Given the description of an element on the screen output the (x, y) to click on. 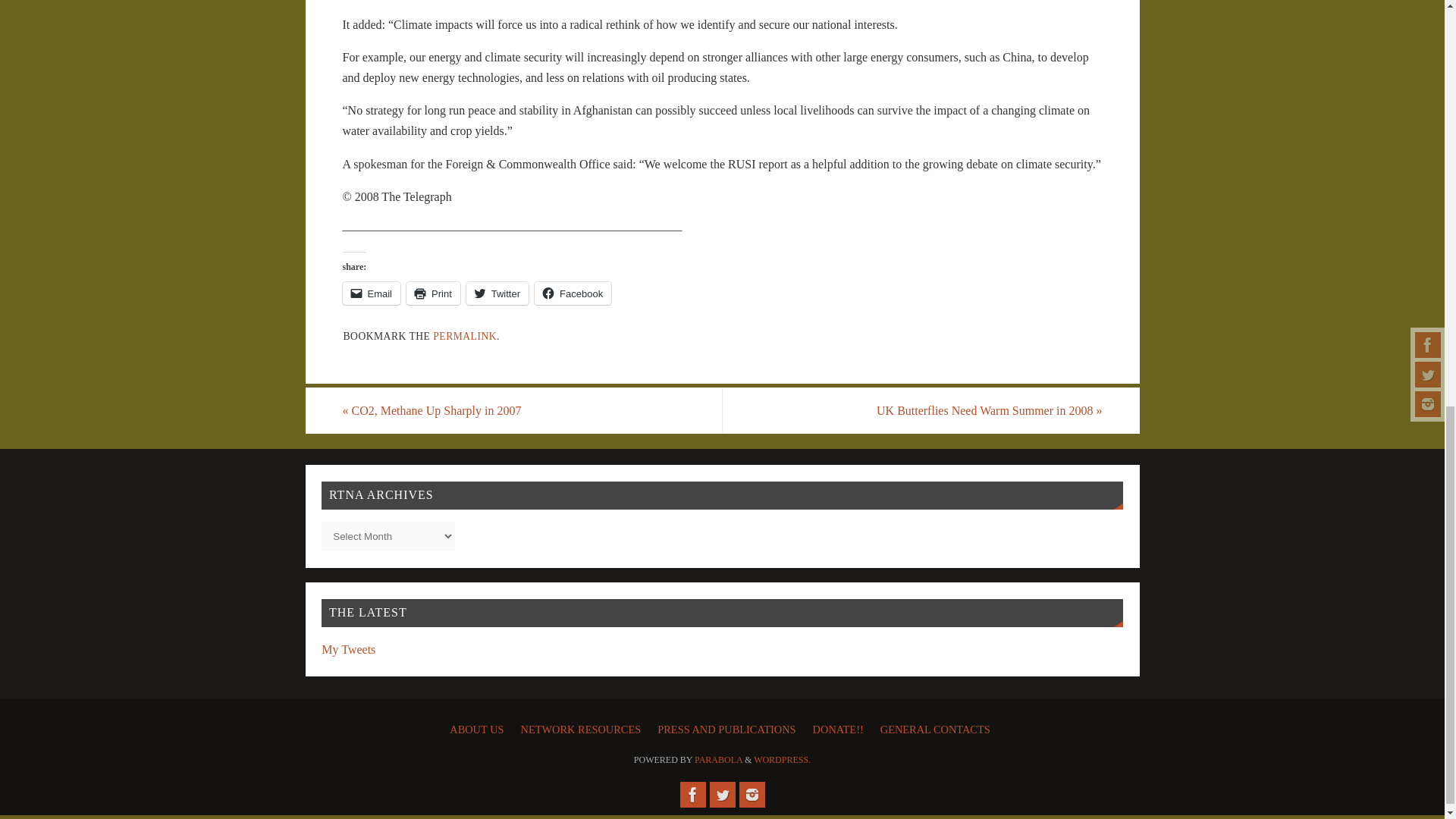
Semantic Personal Publishing Platform (782, 759)
Click to share on Facebook (572, 292)
Click to email a link to a friend (371, 292)
Permalink to Climate Change and War (464, 336)
Parabola Theme by Cryout Creations (718, 759)
Click to share on Twitter (496, 292)
Click to print (433, 292)
